Given the description of an element on the screen output the (x, y) to click on. 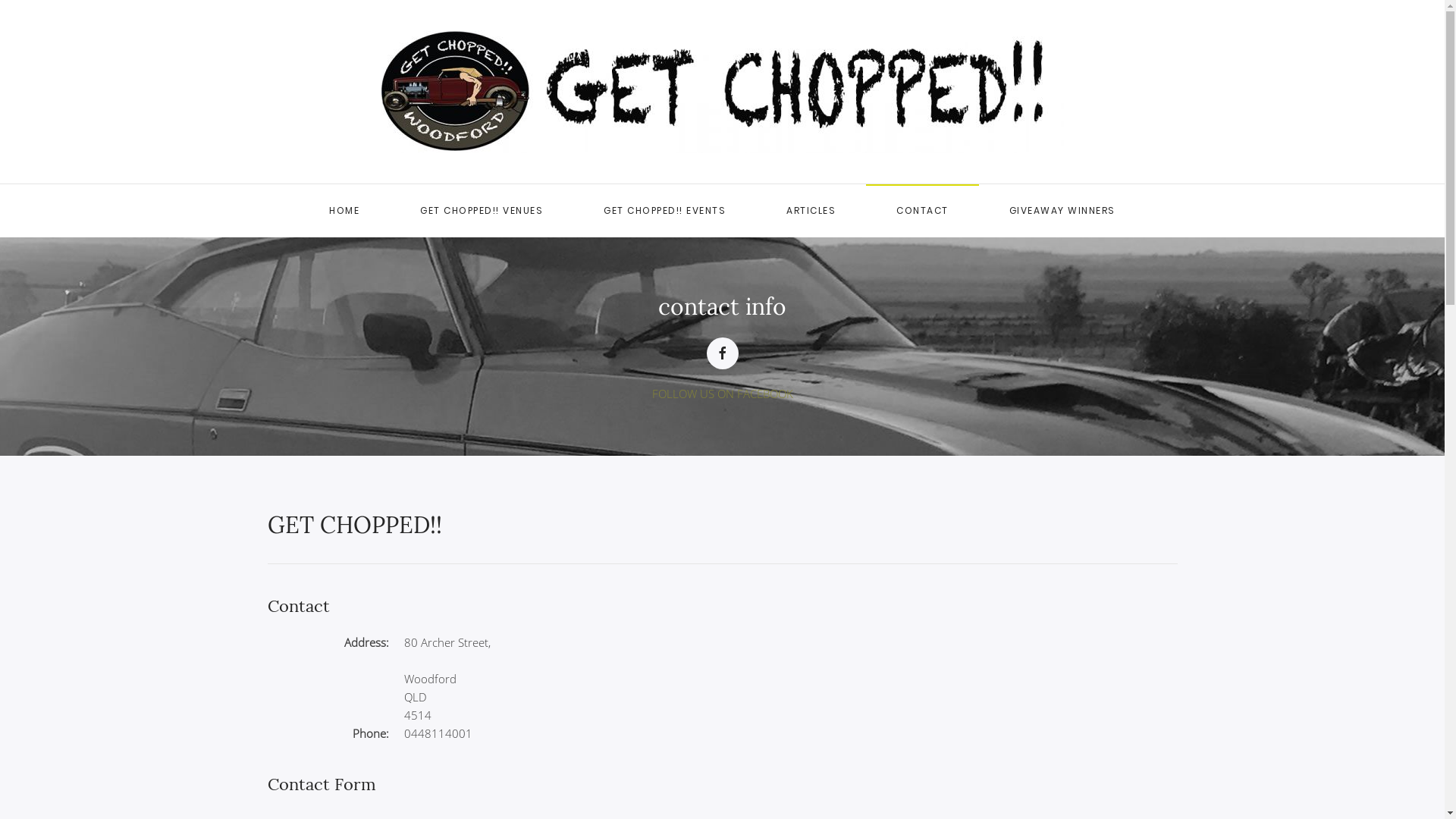
GIVEAWAY WINNERS Element type: text (1062, 210)
CONTACT Element type: text (922, 210)
ARTICLES Element type: text (811, 210)
GET CHOPPED!! VENUES Element type: text (481, 210)
HOME Element type: text (343, 210)
GET CHOPPED!! EVENTS Element type: text (664, 210)
FOLLOW US ON FACEBOOK Element type: text (722, 393)
